Given the description of an element on the screen output the (x, y) to click on. 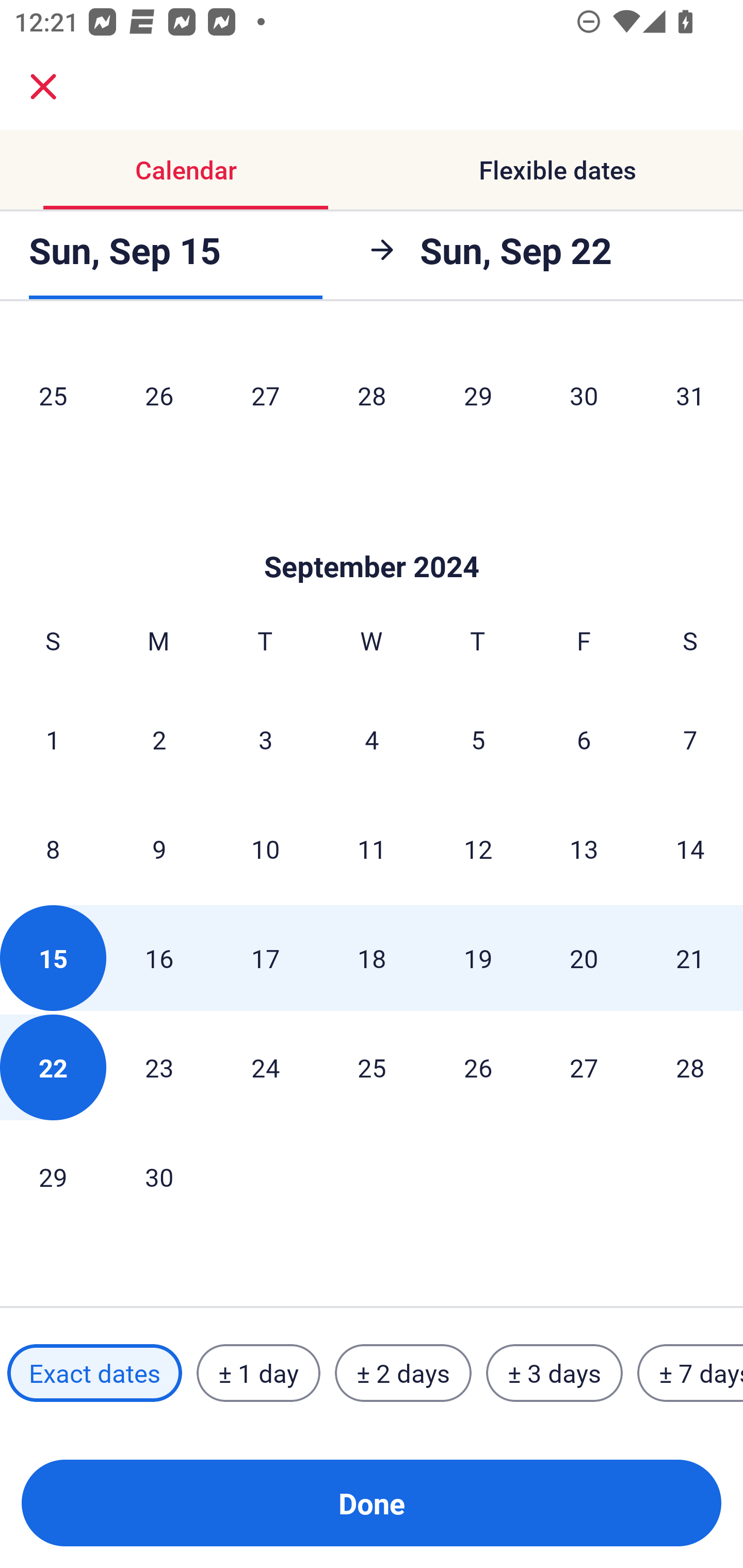
close. (43, 86)
Flexible dates (557, 170)
25 Sunday, August 25, 2024 (53, 394)
26 Monday, August 26, 2024 (159, 394)
27 Tuesday, August 27, 2024 (265, 394)
28 Wednesday, August 28, 2024 (371, 394)
29 Thursday, August 29, 2024 (477, 394)
30 Friday, August 30, 2024 (584, 394)
31 Saturday, August 31, 2024 (690, 394)
Skip to Done (371, 535)
1 Sunday, September 1, 2024 (53, 738)
2 Monday, September 2, 2024 (159, 738)
3 Tuesday, September 3, 2024 (265, 738)
4 Wednesday, September 4, 2024 (371, 738)
5 Thursday, September 5, 2024 (477, 738)
6 Friday, September 6, 2024 (584, 738)
7 Saturday, September 7, 2024 (690, 738)
8 Sunday, September 8, 2024 (53, 848)
9 Monday, September 9, 2024 (159, 848)
10 Tuesday, September 10, 2024 (265, 848)
11 Wednesday, September 11, 2024 (371, 848)
12 Thursday, September 12, 2024 (477, 848)
13 Friday, September 13, 2024 (584, 848)
14 Saturday, September 14, 2024 (690, 848)
23 Monday, September 23, 2024 (159, 1066)
24 Tuesday, September 24, 2024 (265, 1066)
25 Wednesday, September 25, 2024 (371, 1066)
26 Thursday, September 26, 2024 (477, 1066)
27 Friday, September 27, 2024 (584, 1066)
28 Saturday, September 28, 2024 (690, 1066)
29 Sunday, September 29, 2024 (53, 1176)
30 Monday, September 30, 2024 (159, 1176)
Exact dates (94, 1372)
± 1 day (258, 1372)
± 2 days (403, 1372)
± 3 days (553, 1372)
± 7 days (690, 1372)
Done (371, 1502)
